Given the description of an element on the screen output the (x, y) to click on. 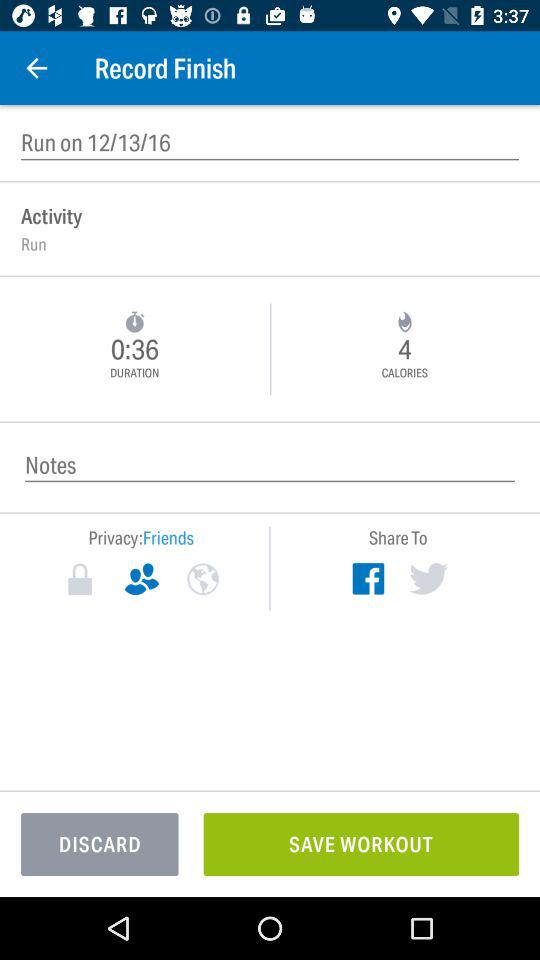
twitter (428, 578)
